Given the description of an element on the screen output the (x, y) to click on. 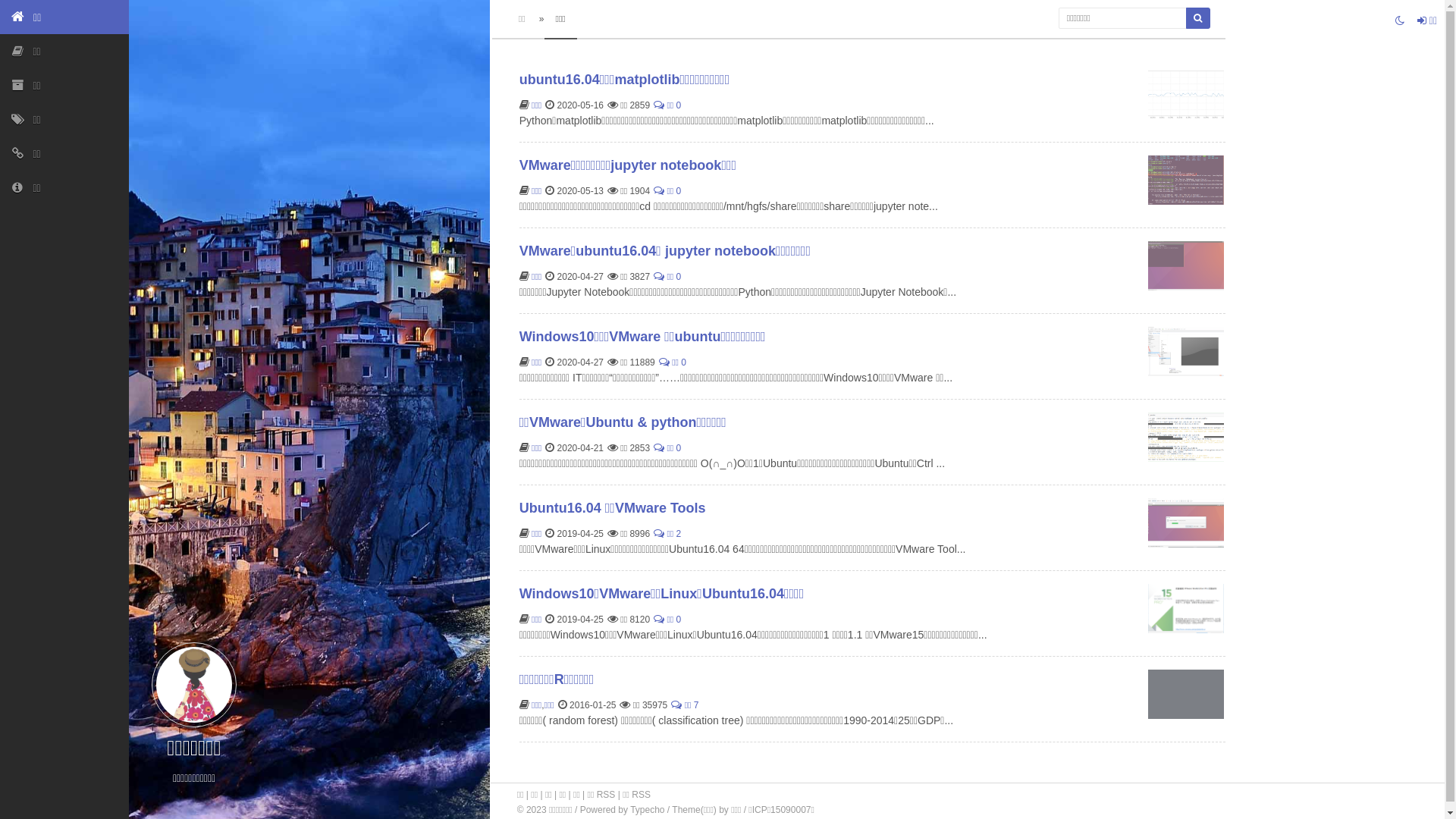
Typecho Element type: text (647, 809)
